Given the description of an element on the screen output the (x, y) to click on. 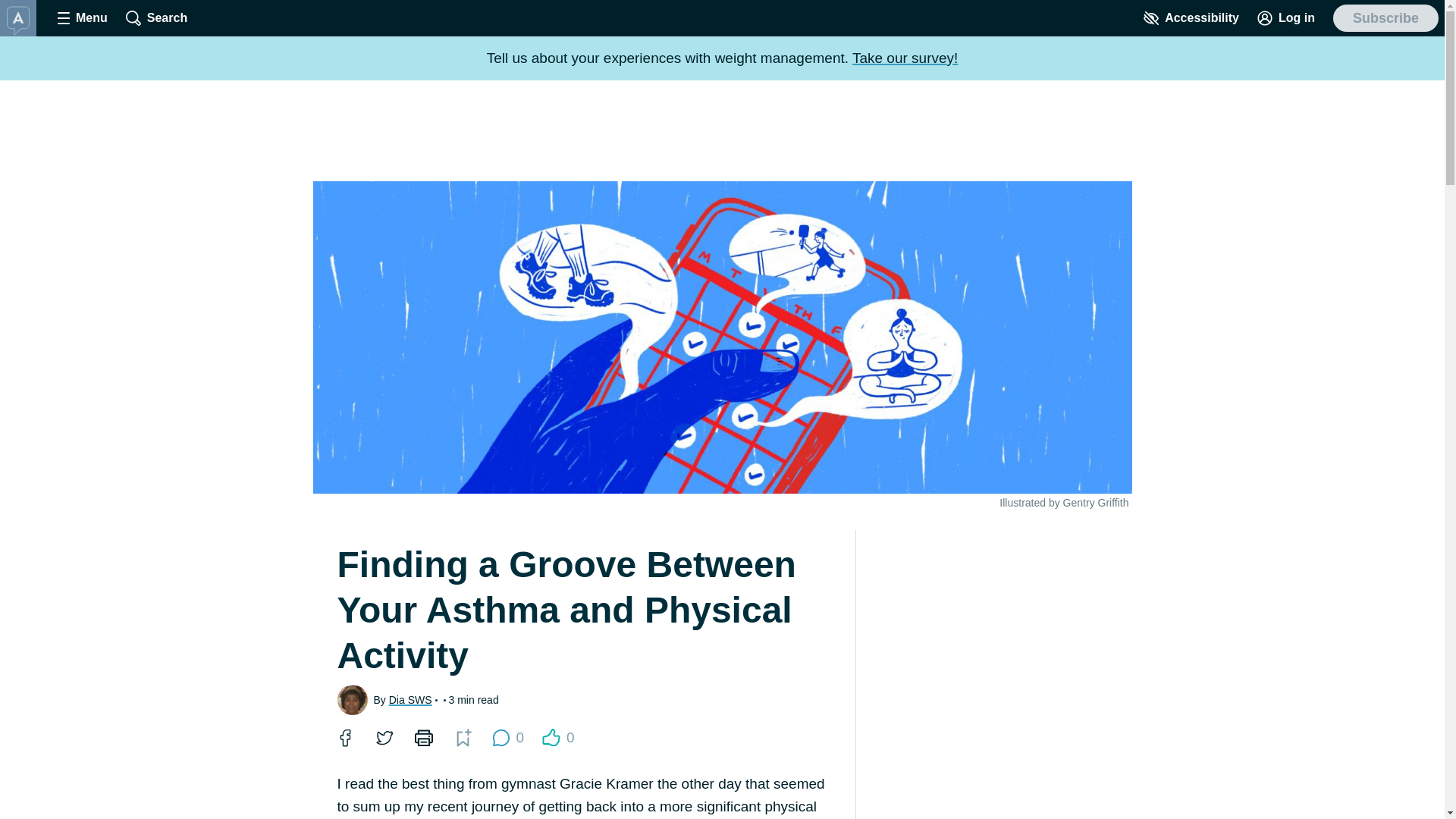
Subscribe (1385, 17)
comment (500, 737)
Log in (1285, 18)
Bookmark for later (557, 737)
Search (462, 737)
Reactions (156, 18)
Take our survey! (550, 737)
print page (904, 57)
Menu (422, 737)
Share to Facebook (82, 18)
Bookmark for later (344, 737)
Share to Twitter (461, 737)
Share to Facebook (383, 737)
Accessibility (343, 737)
